Given the description of an element on the screen output the (x, y) to click on. 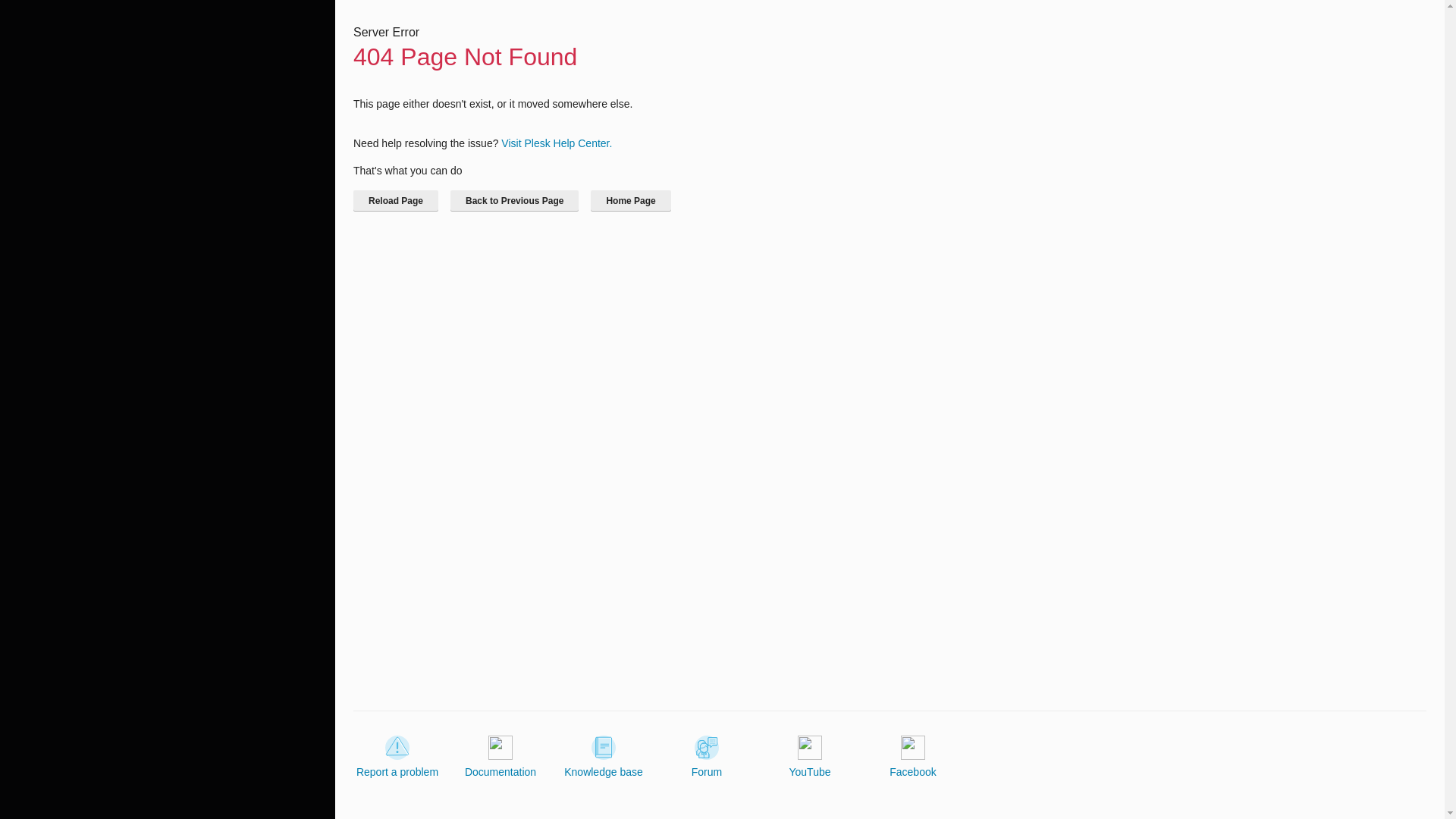
Forum (706, 757)
Home Page (630, 200)
Visit Plesk Help Center. (555, 143)
Report a problem (397, 757)
Documentation (500, 757)
Back to Previous Page (513, 200)
Knowledge base (603, 757)
YouTube (809, 757)
Reload Page (395, 200)
Facebook (912, 757)
